Given the description of an element on the screen output the (x, y) to click on. 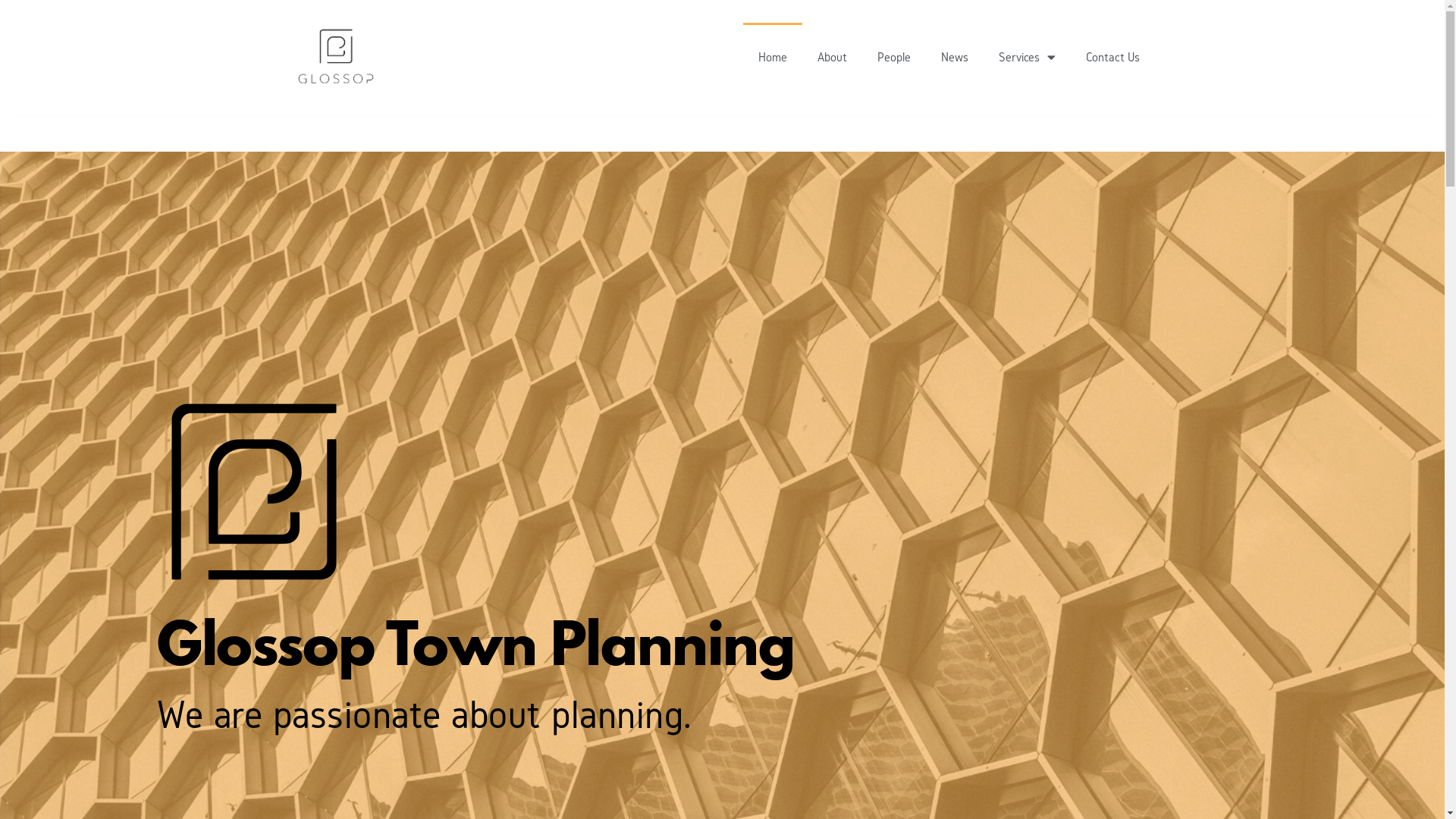
Services Element type: text (1026, 56)
News Element type: text (953, 56)
Home Element type: text (772, 56)
About Element type: text (832, 56)
Contact Us Element type: text (1112, 56)
People Element type: text (893, 56)
